Given the description of an element on the screen output the (x, y) to click on. 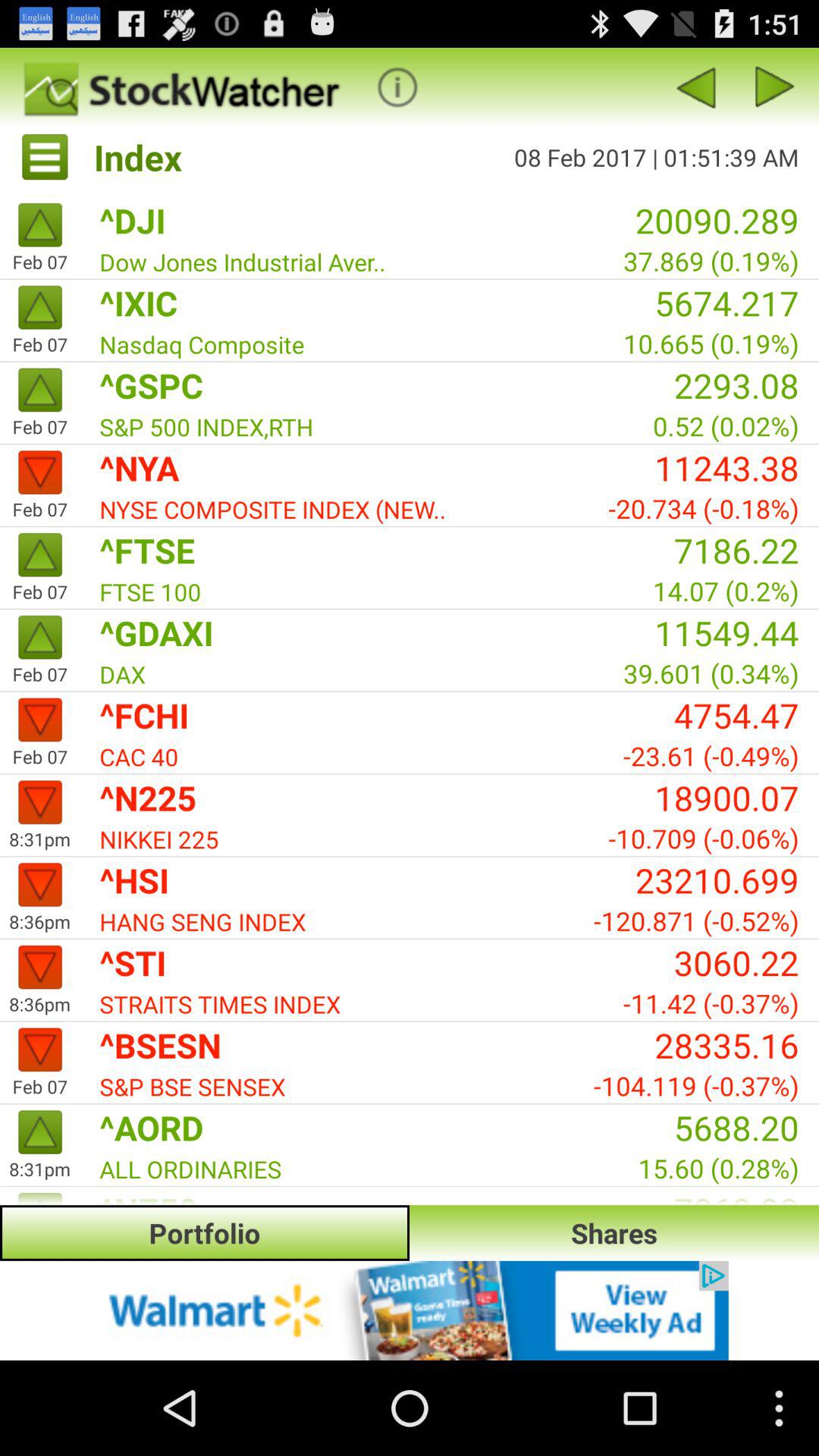
advertisement (409, 1310)
